Given the description of an element on the screen output the (x, y) to click on. 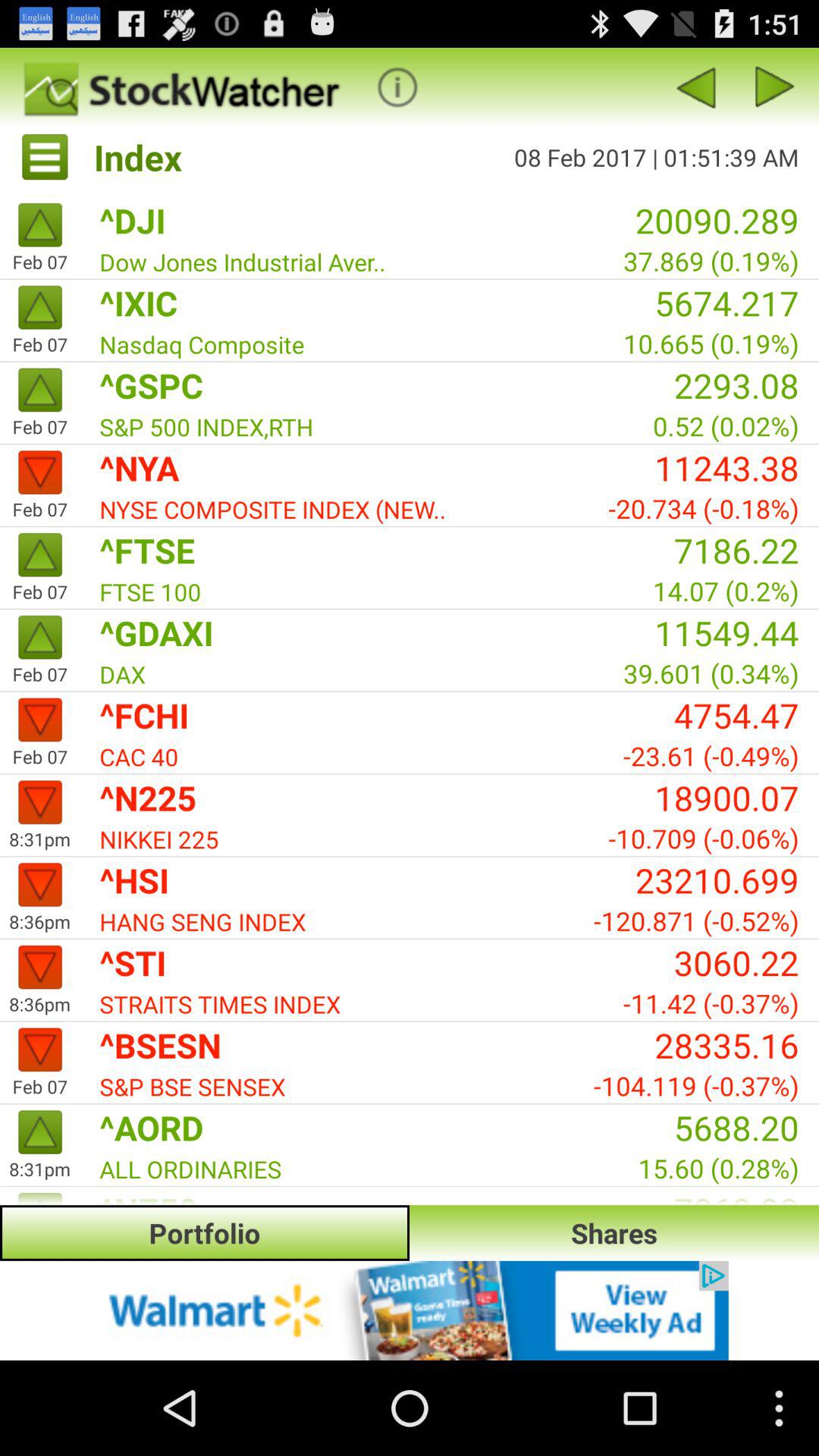
advertisement (409, 1310)
